Given the description of an element on the screen output the (x, y) to click on. 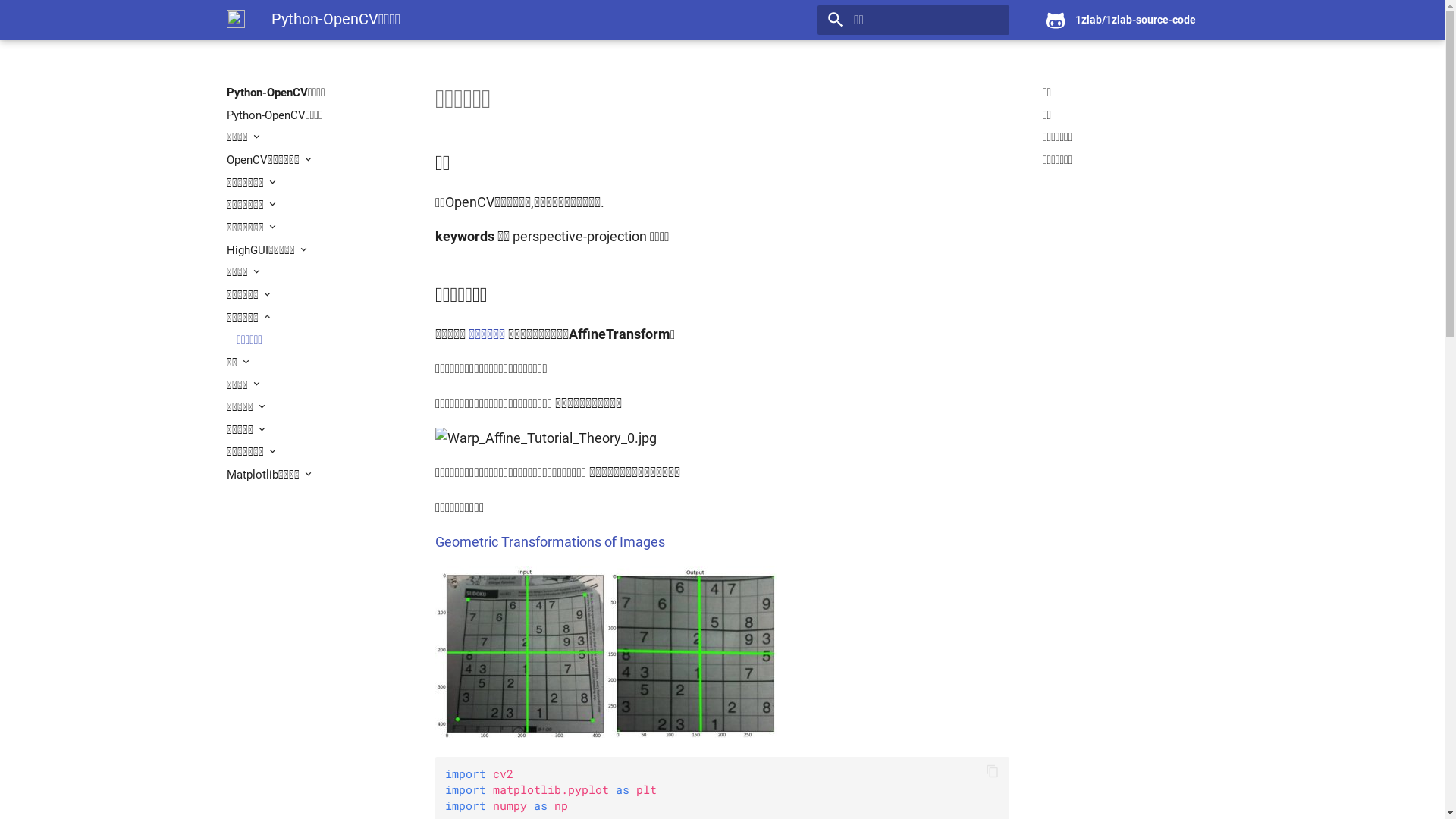
Geometric Transformations of Images Element type: text (550, 541)
1zlab/1zlab-source-code Element type: text (1126, 20)
